Given the description of an element on the screen output the (x, y) to click on. 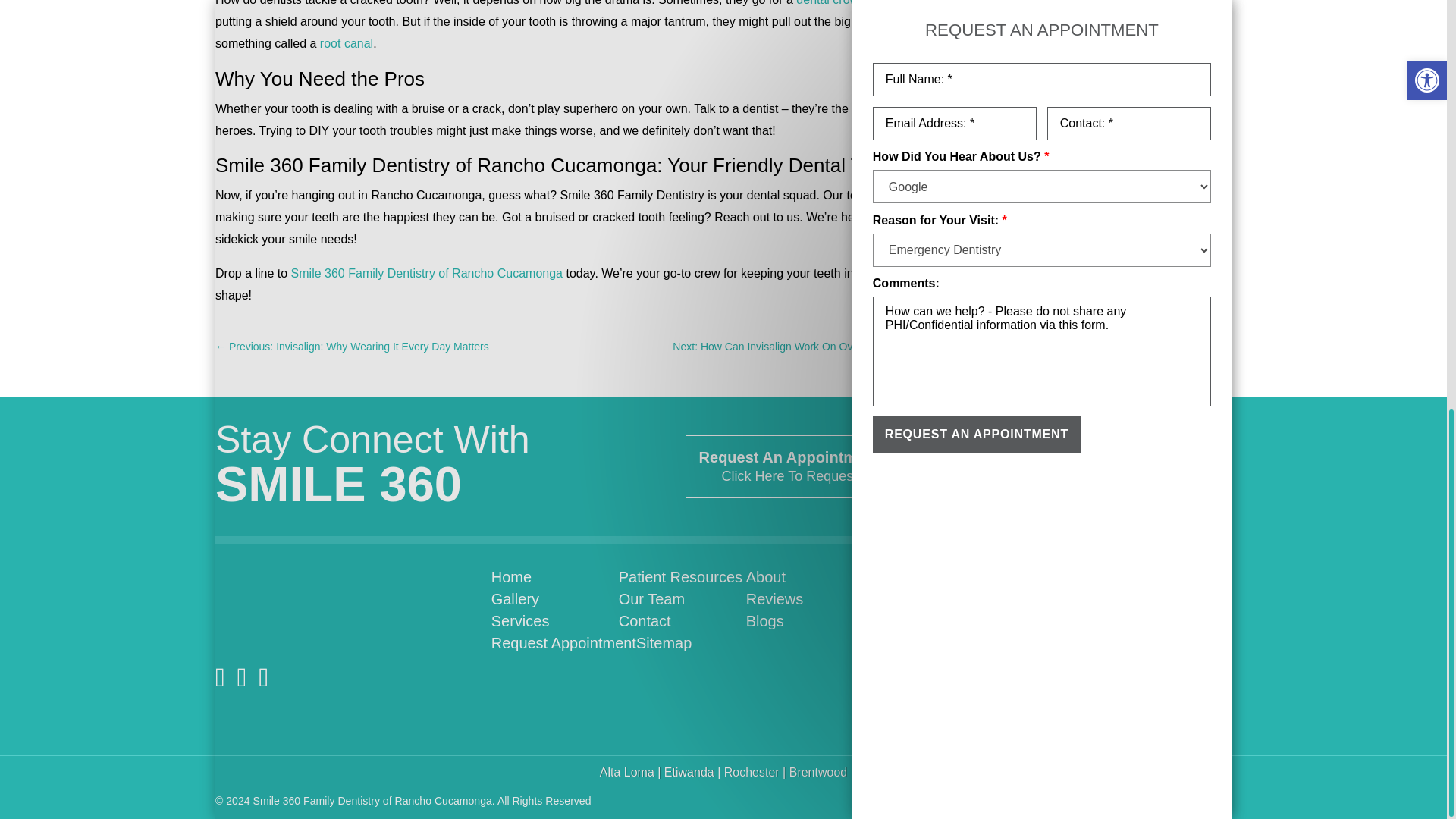
smile360 family dentistry (325, 605)
dental crown (830, 2)
Smile 360 Family Dentistry of Rancho Cucamonga (426, 273)
root canal (346, 42)
